Given the description of an element on the screen output the (x, y) to click on. 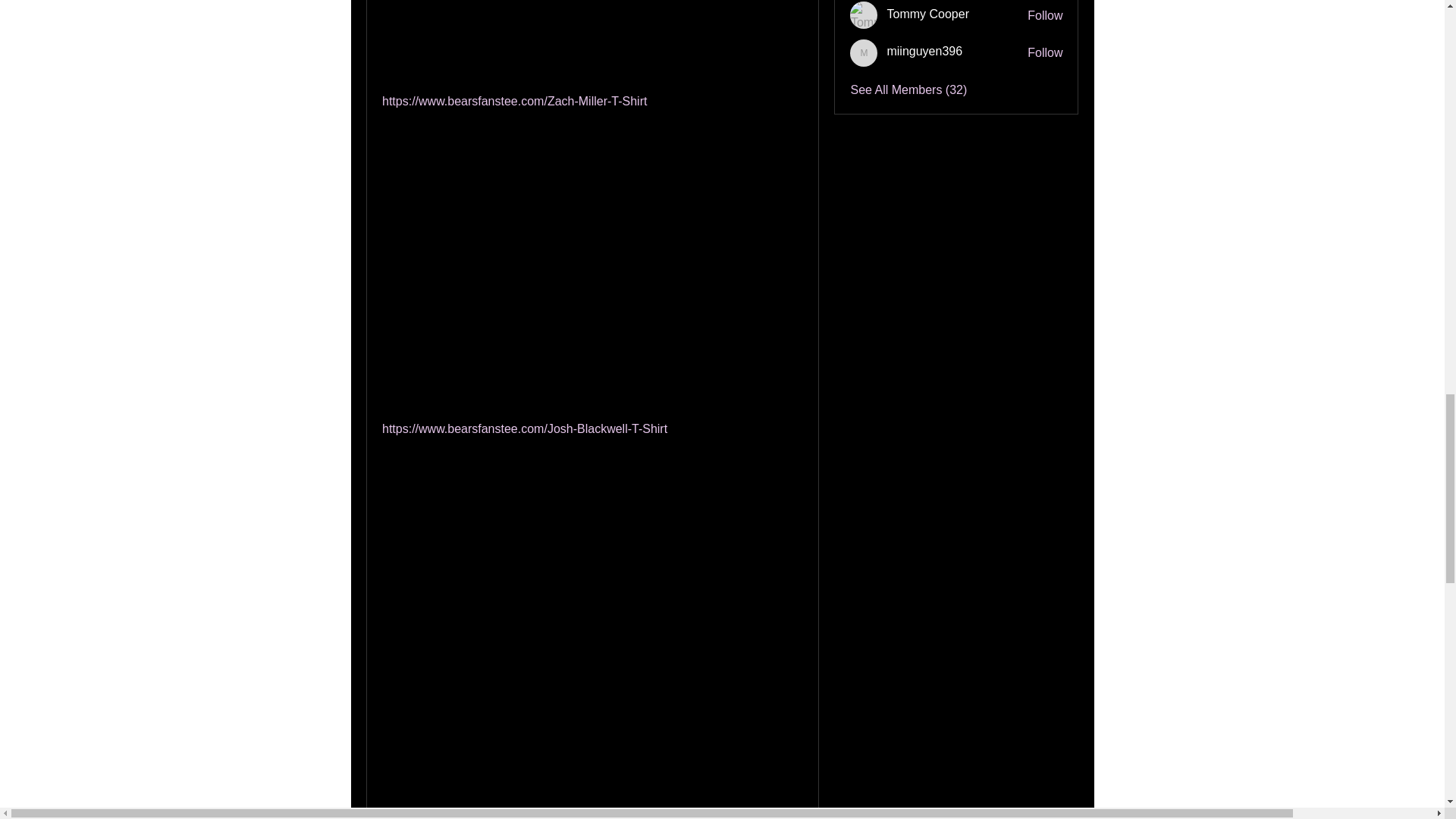
Munich.NFL (473, 610)
miinguyen396 (863, 52)
Follow (1044, 15)
draft.NFL (621, 537)
Tommy Cooper (863, 14)
season.Market (491, 82)
